Given the description of an element on the screen output the (x, y) to click on. 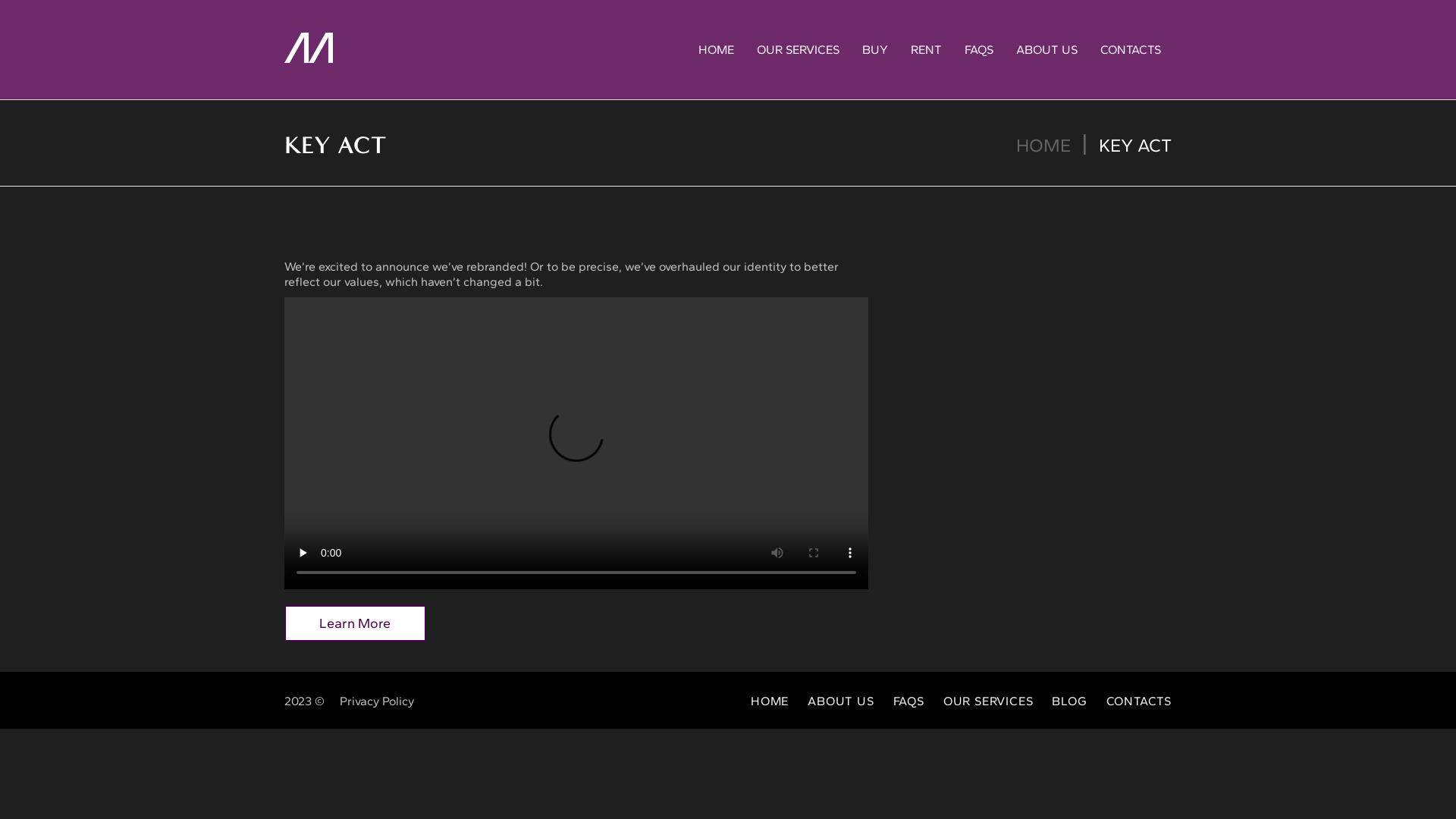
Privacy Policy Element type: text (376, 700)
BUY Element type: text (874, 49)
ABOUT US Element type: text (840, 700)
HOME Element type: text (715, 49)
BLOG Element type: text (1068, 700)
OUR SERVICES Element type: text (988, 700)
ABOUT US Element type: text (1046, 49)
HOME Element type: text (769, 700)
FAQS Element type: text (908, 700)
HOME Element type: text (1043, 145)
OUR SERVICES Element type: text (798, 49)
Learn More Element type: text (355, 623)
CONTACTS Element type: text (1138, 700)
RENT Element type: text (926, 49)
CONTACTS Element type: text (1130, 49)
FAQS Element type: text (978, 49)
